Given the description of an element on the screen output the (x, y) to click on. 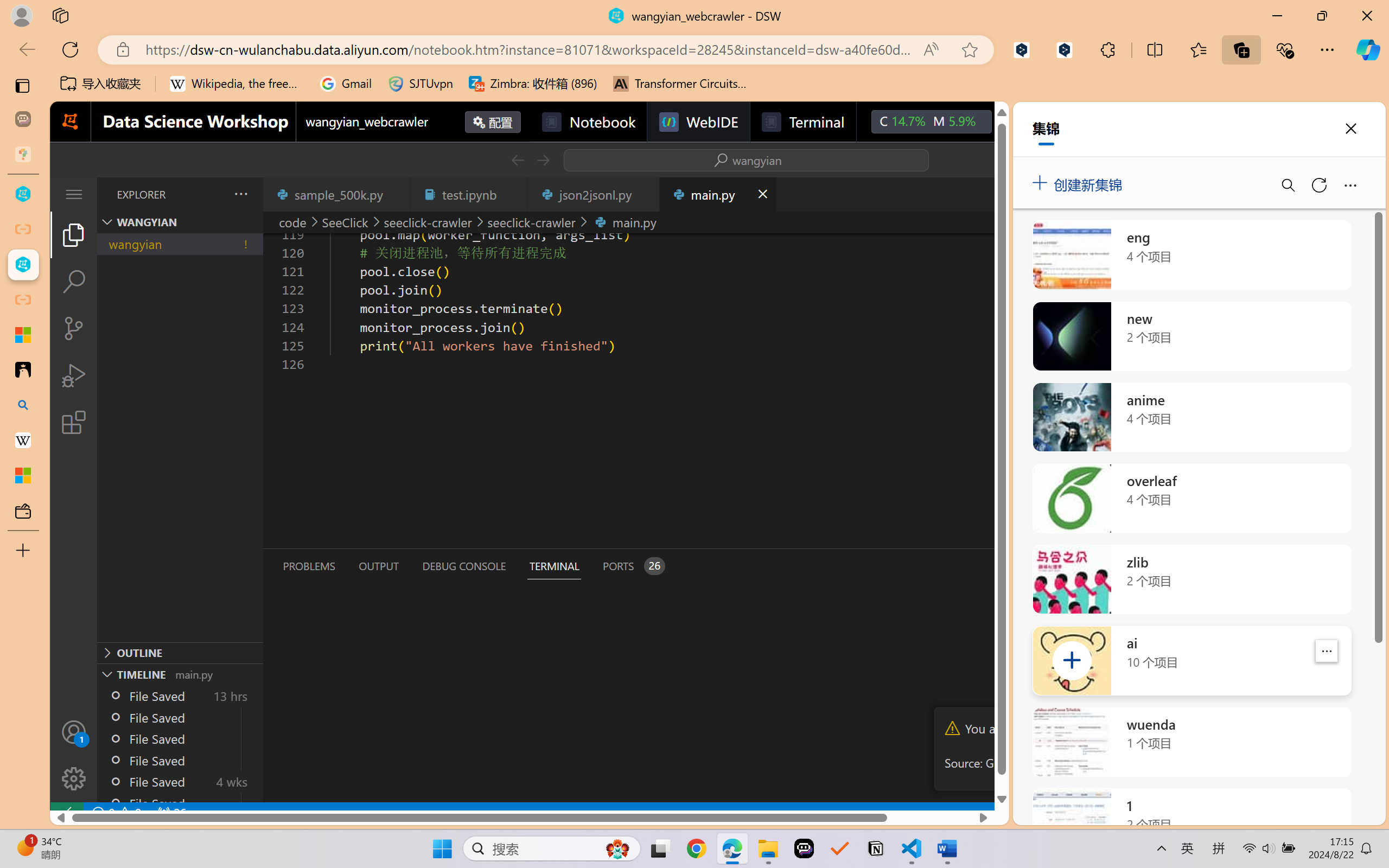
wangyian_dsw - DSW (22, 194)
WebIDE (698, 121)
Explorer Section: wangyian (179, 221)
Go Forward (Alt+RightArrow) (541, 159)
Search (Ctrl+Shift+F) (73, 281)
Notebook (588, 121)
